Given the description of an element on the screen output the (x, y) to click on. 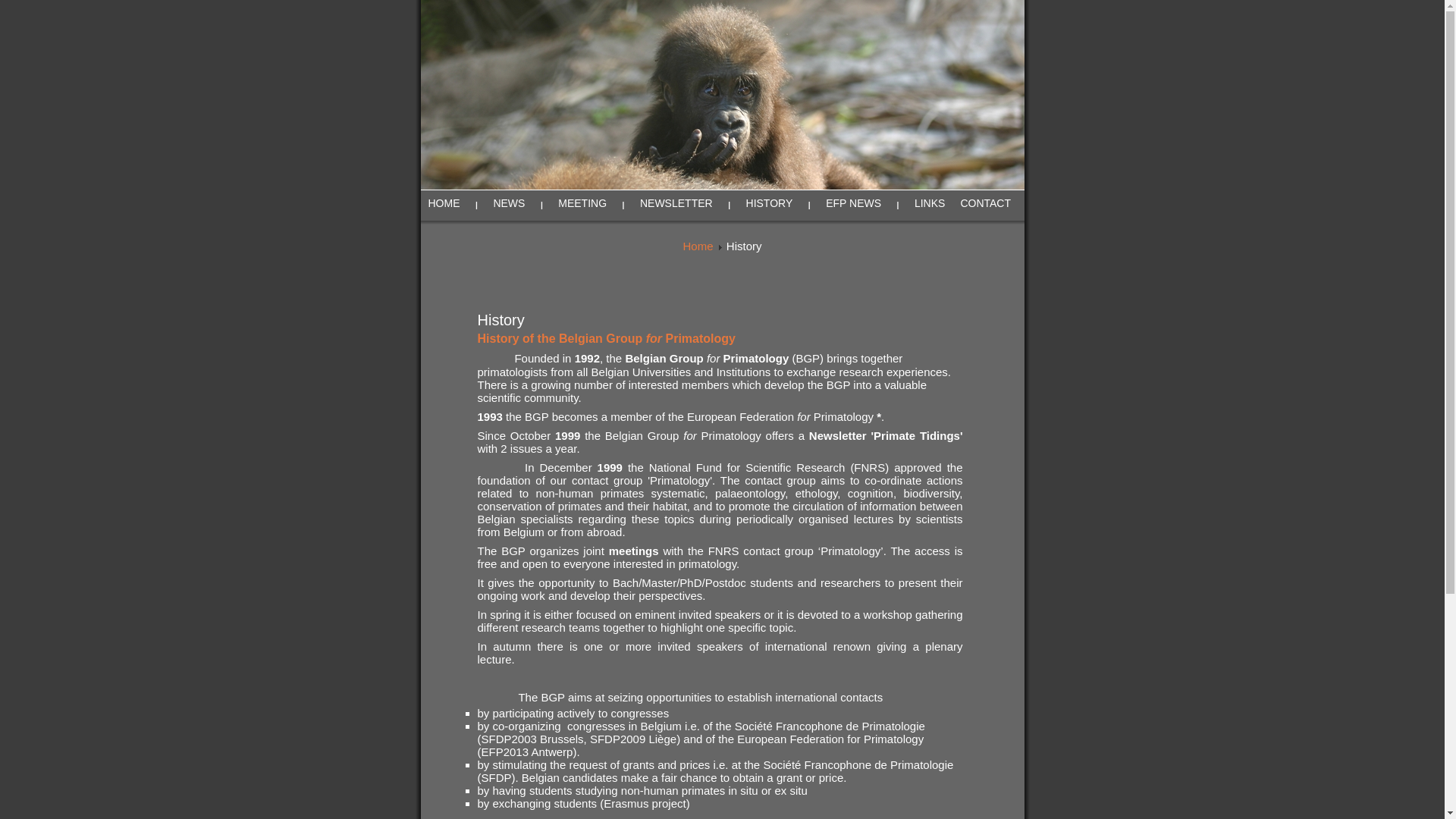
History of the Belgian Group for Primatology Element type: text (606, 338)
Home Element type: text (697, 245)
CONTACT Element type: text (985, 203)
EFP NEWS Element type: text (853, 203)
NEWS Element type: text (508, 203)
LINKS Element type: text (929, 203)
HISTORY Element type: text (769, 203)
HOME Element type: text (443, 203)
NEWSLETTER Element type: text (676, 203)
MEETING Element type: text (582, 203)
